Given the description of an element on the screen output the (x, y) to click on. 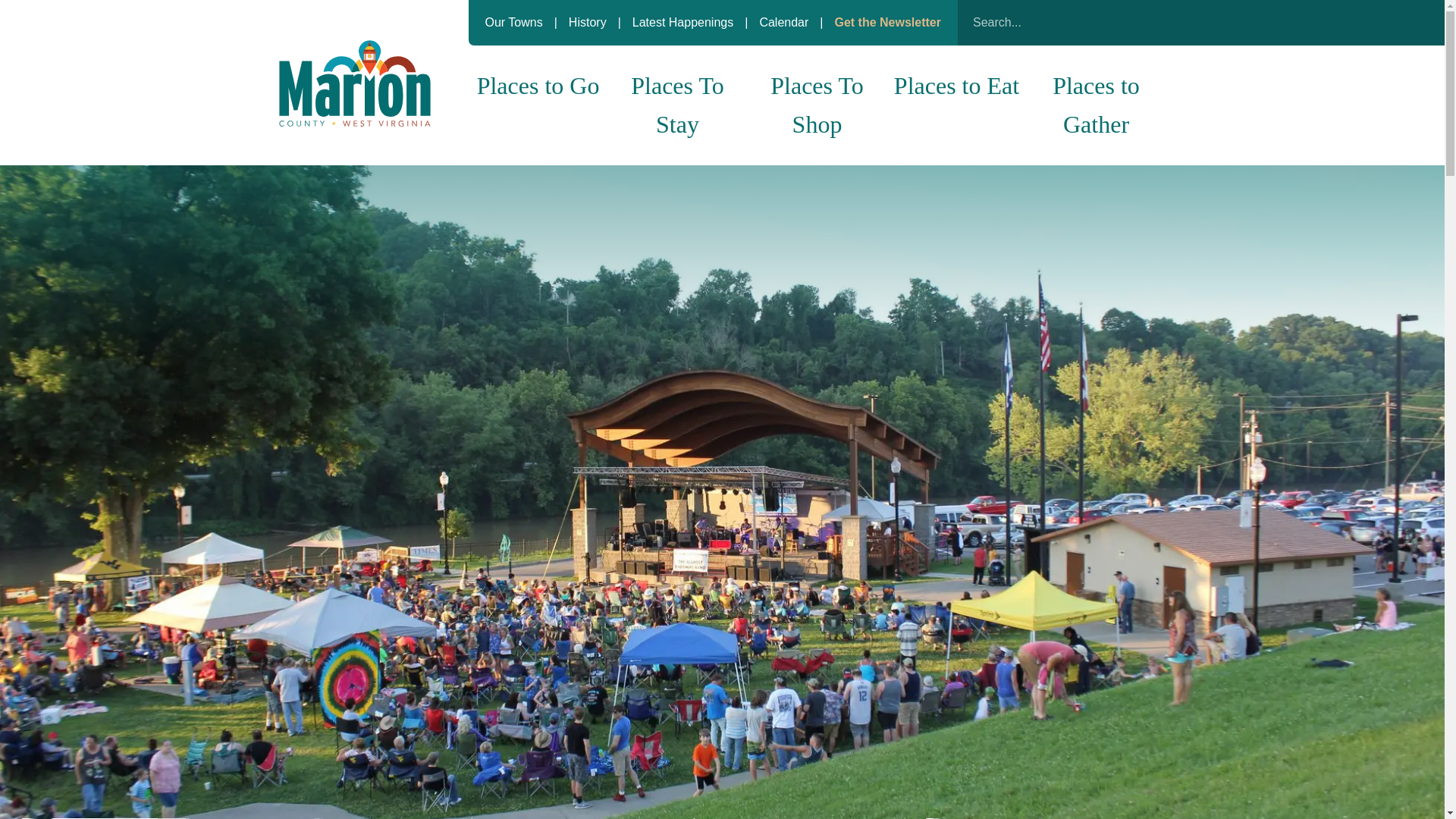
Get the Newsletter (887, 21)
Our Towns (514, 21)
Search (1146, 22)
Places to Go (538, 85)
Latest Happenings (684, 21)
Places To Stay (678, 105)
Calendar (785, 21)
History (589, 21)
